Given the description of an element on the screen output the (x, y) to click on. 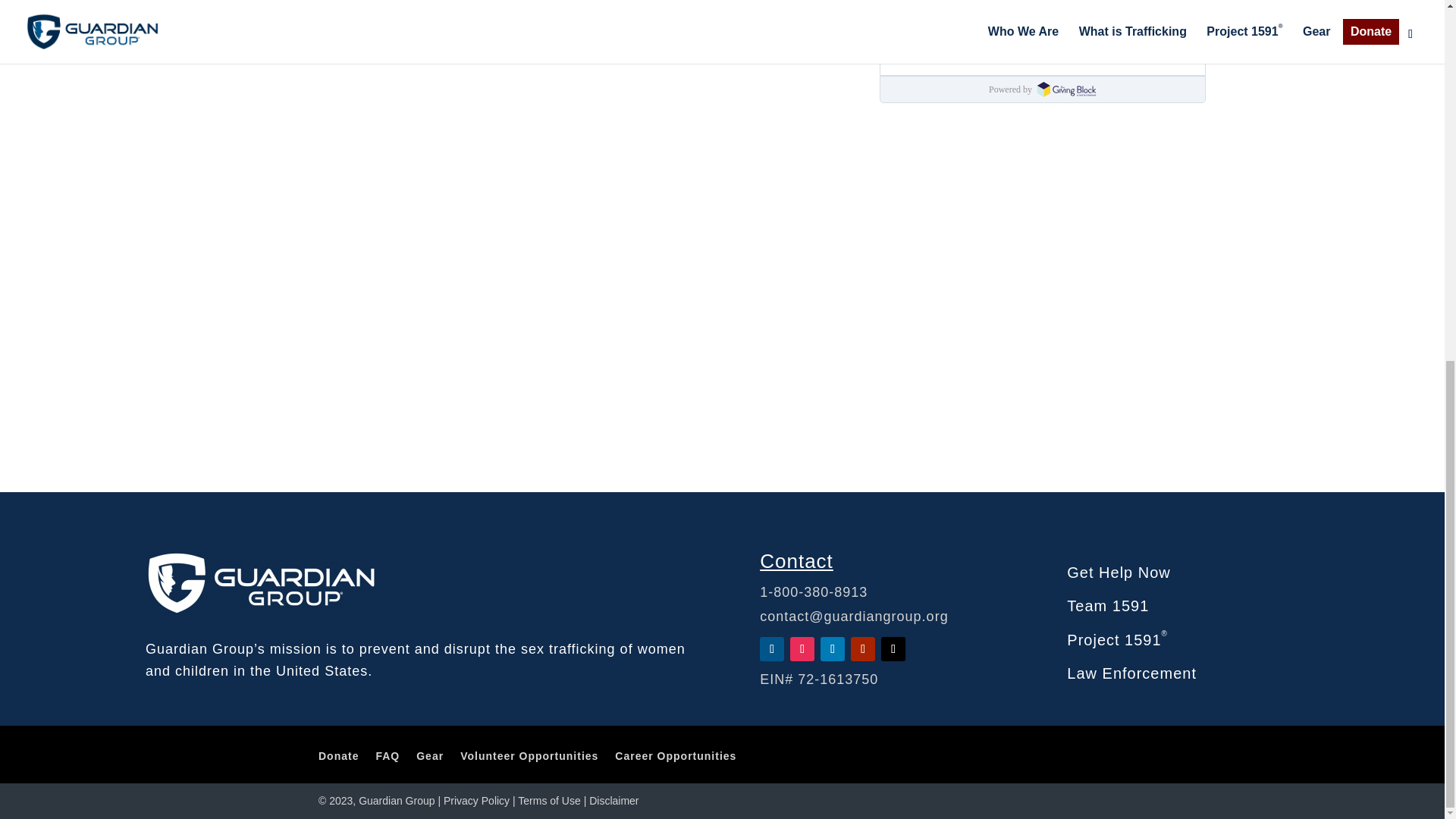
Contact (796, 560)
Facebook (772, 648)
Law Enforcement (1131, 673)
Donate (338, 766)
LinkedIn (832, 648)
Twitter (892, 648)
Follow on Instagram (801, 648)
Follow on LinkedIn (832, 648)
Instagram (801, 648)
Team 1591 (1107, 605)
YouTube (862, 648)
Get Help Now (1118, 572)
Follow on Facebook (772, 648)
Follow on X (892, 648)
Follow on Youtube (862, 648)
